Given the description of an element on the screen output the (x, y) to click on. 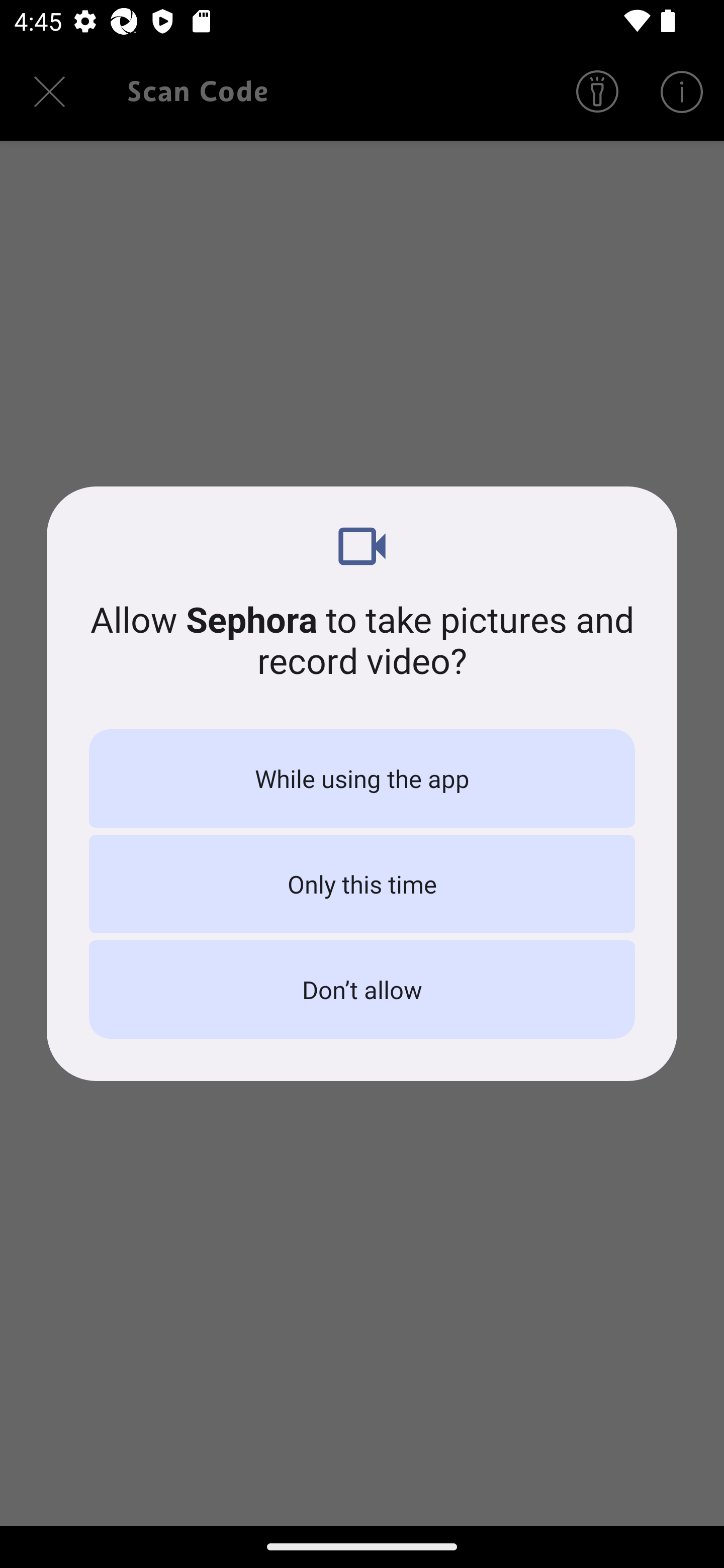
While using the app (361, 778)
Only this time (361, 883)
Don’t allow (361, 989)
